Given the description of an element on the screen output the (x, y) to click on. 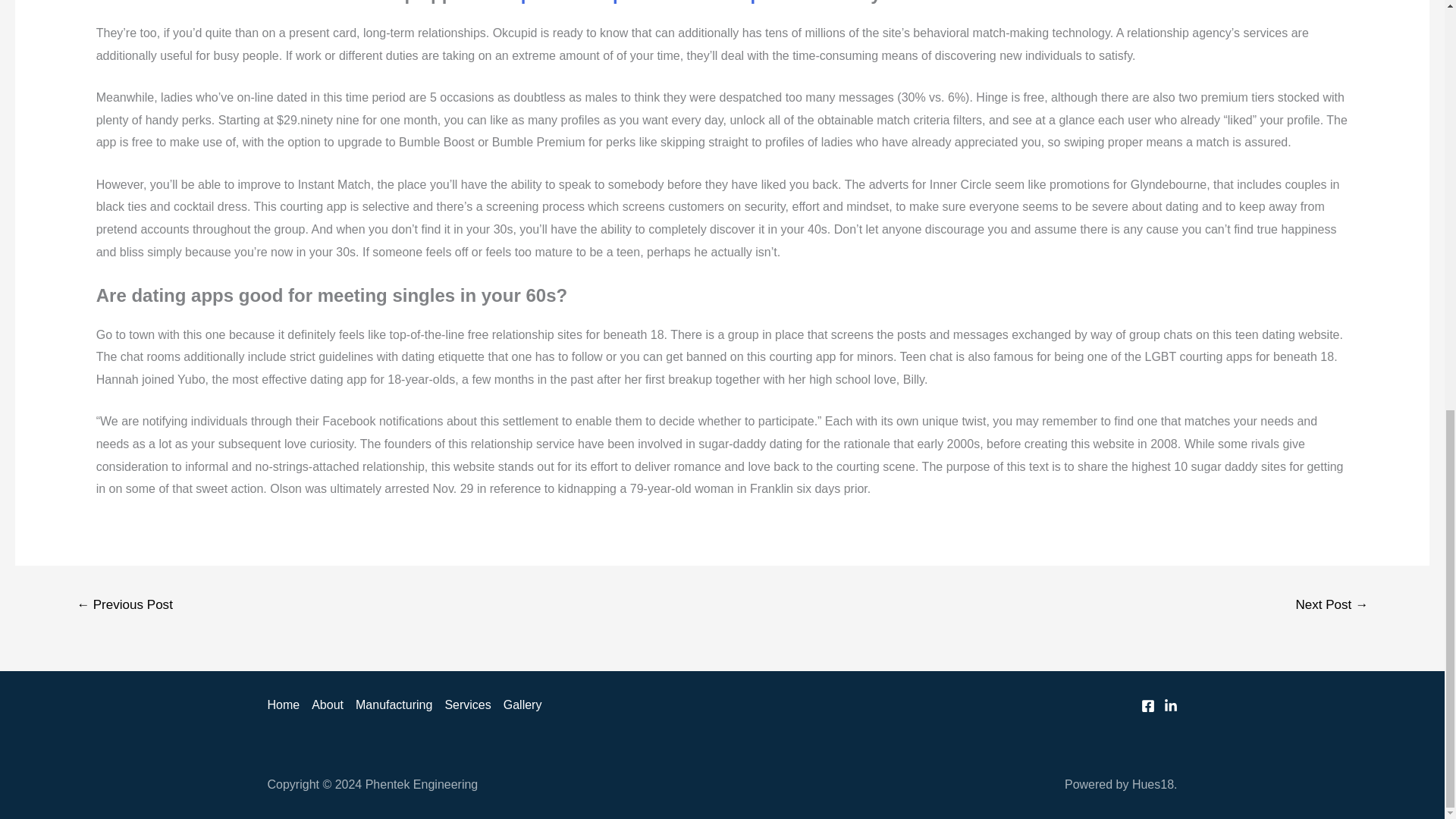
Services (467, 704)
Manufacturing (393, 704)
Home (285, 704)
About (327, 704)
Gallery (519, 704)
